Given the description of an element on the screen output the (x, y) to click on. 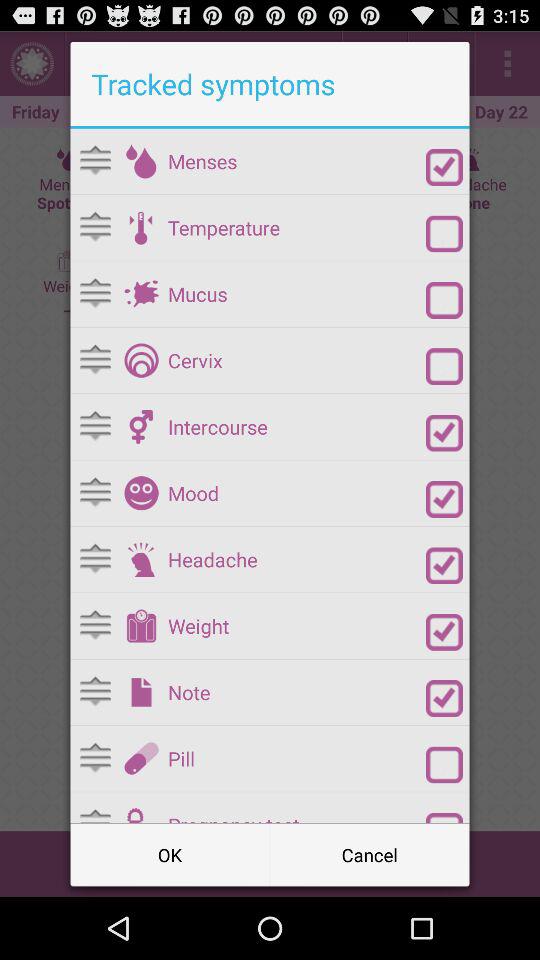
mucus checkbox (444, 300)
